Given the description of an element on the screen output the (x, y) to click on. 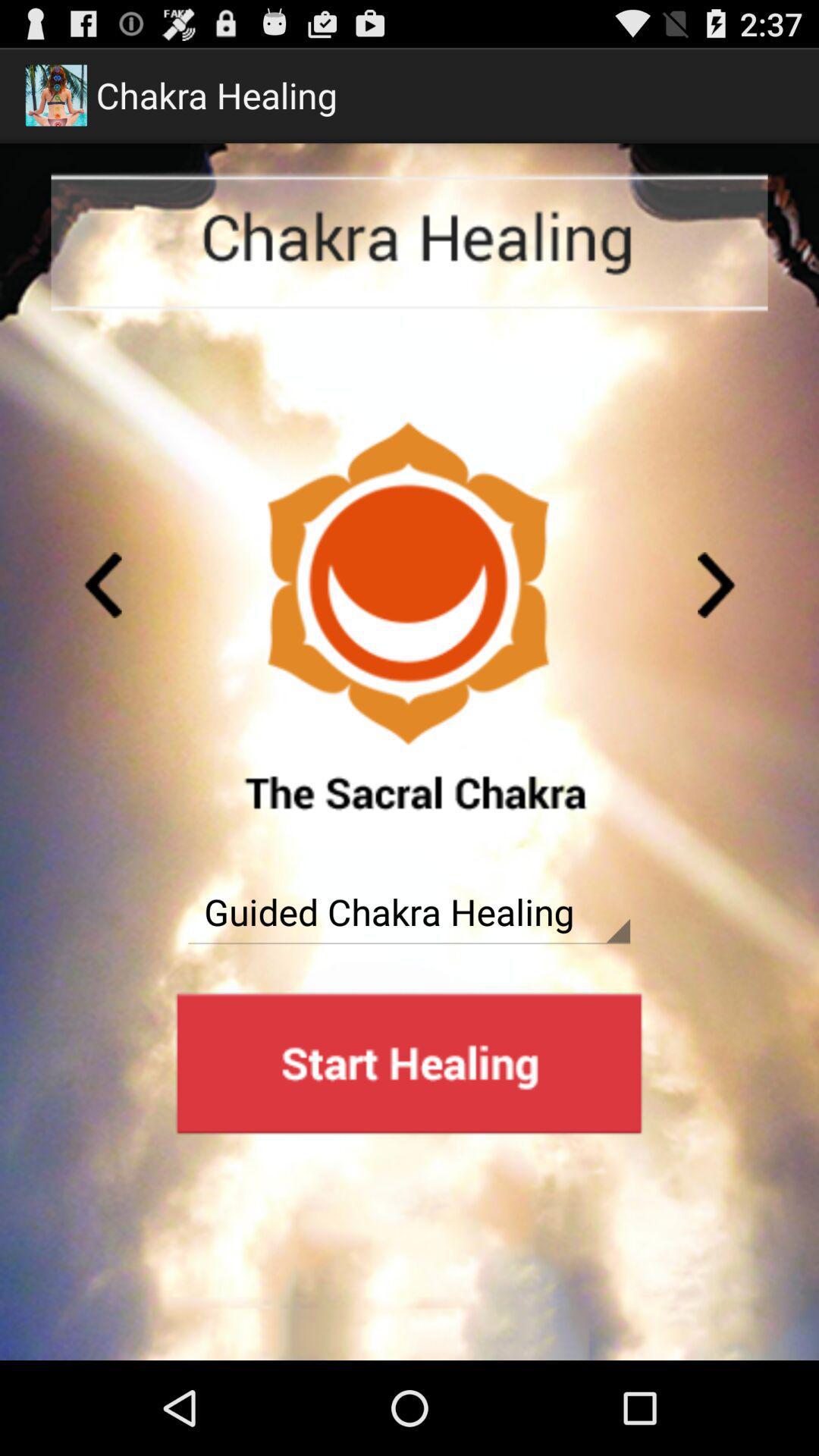
go to ride (102, 585)
